Given the description of an element on the screen output the (x, y) to click on. 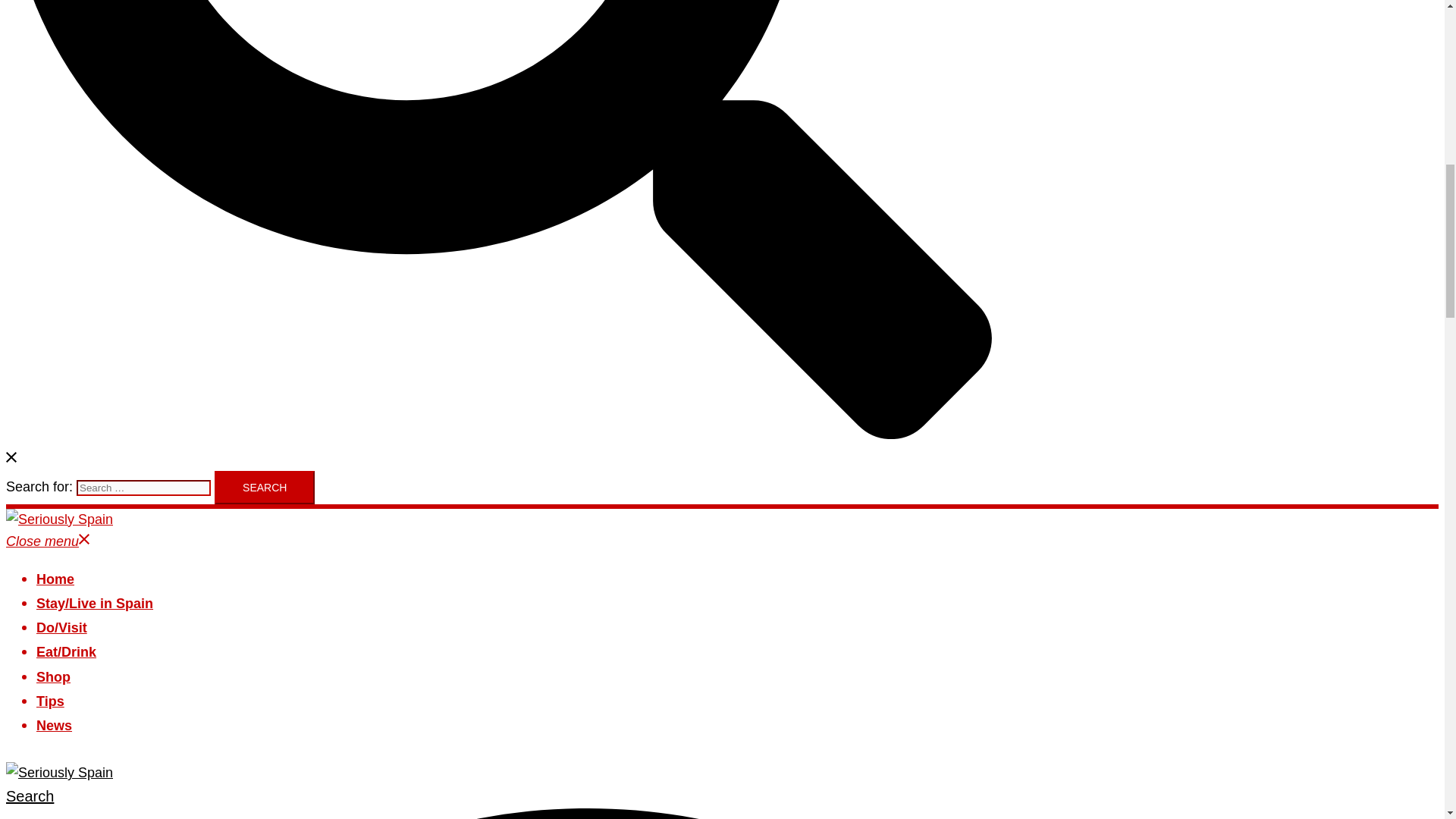
Home (55, 579)
News (53, 725)
Search (264, 487)
Shop (52, 675)
Search (264, 487)
Seriously Spain (59, 519)
Close menu (47, 540)
Tips (50, 701)
Search (264, 487)
Seriously Spain (59, 772)
